Given the description of an element on the screen output the (x, y) to click on. 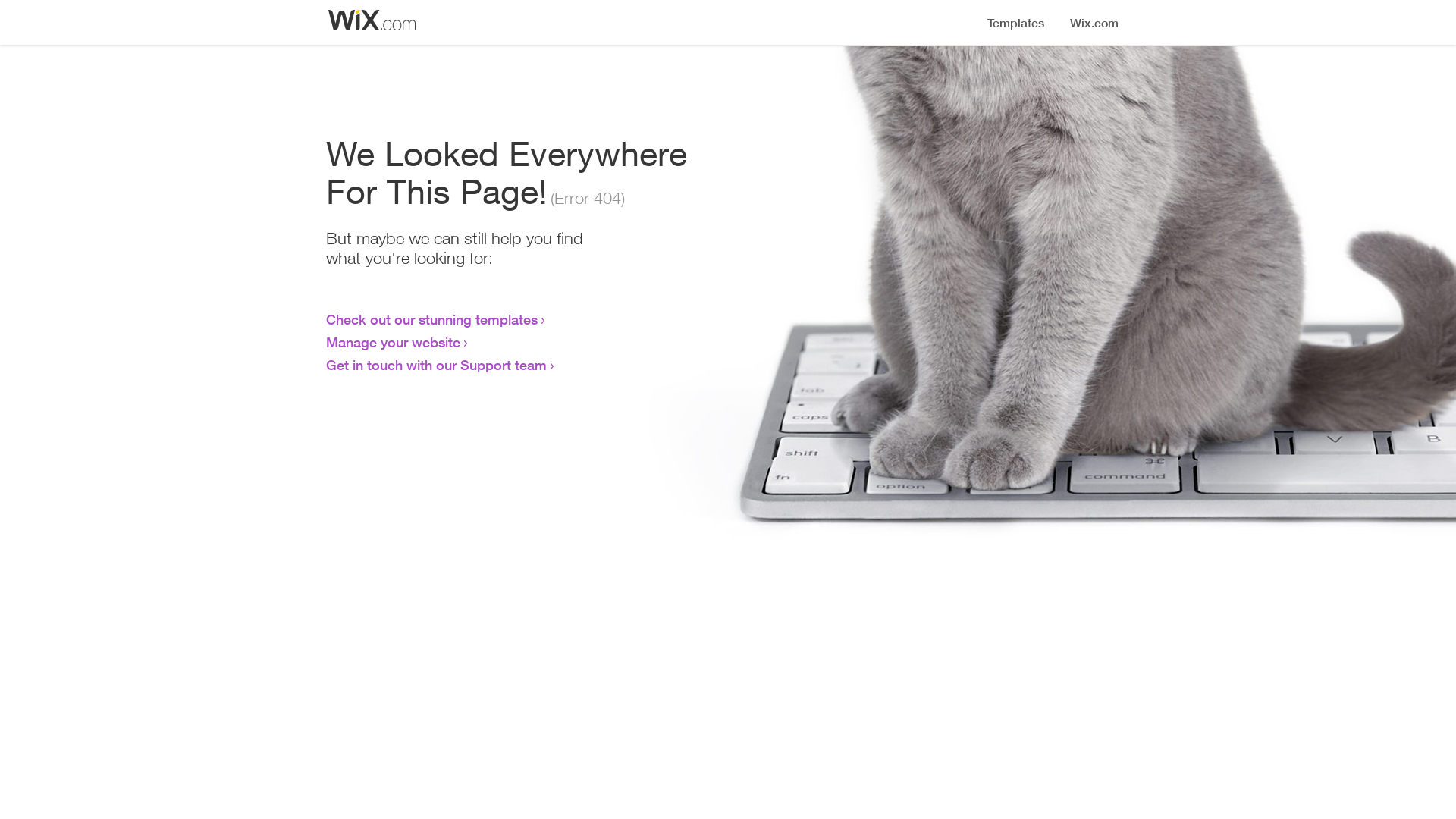
Manage your website Element type: text (393, 341)
Get in touch with our Support team Element type: text (436, 364)
Check out our stunning templates Element type: text (431, 318)
